Given the description of an element on the screen output the (x, y) to click on. 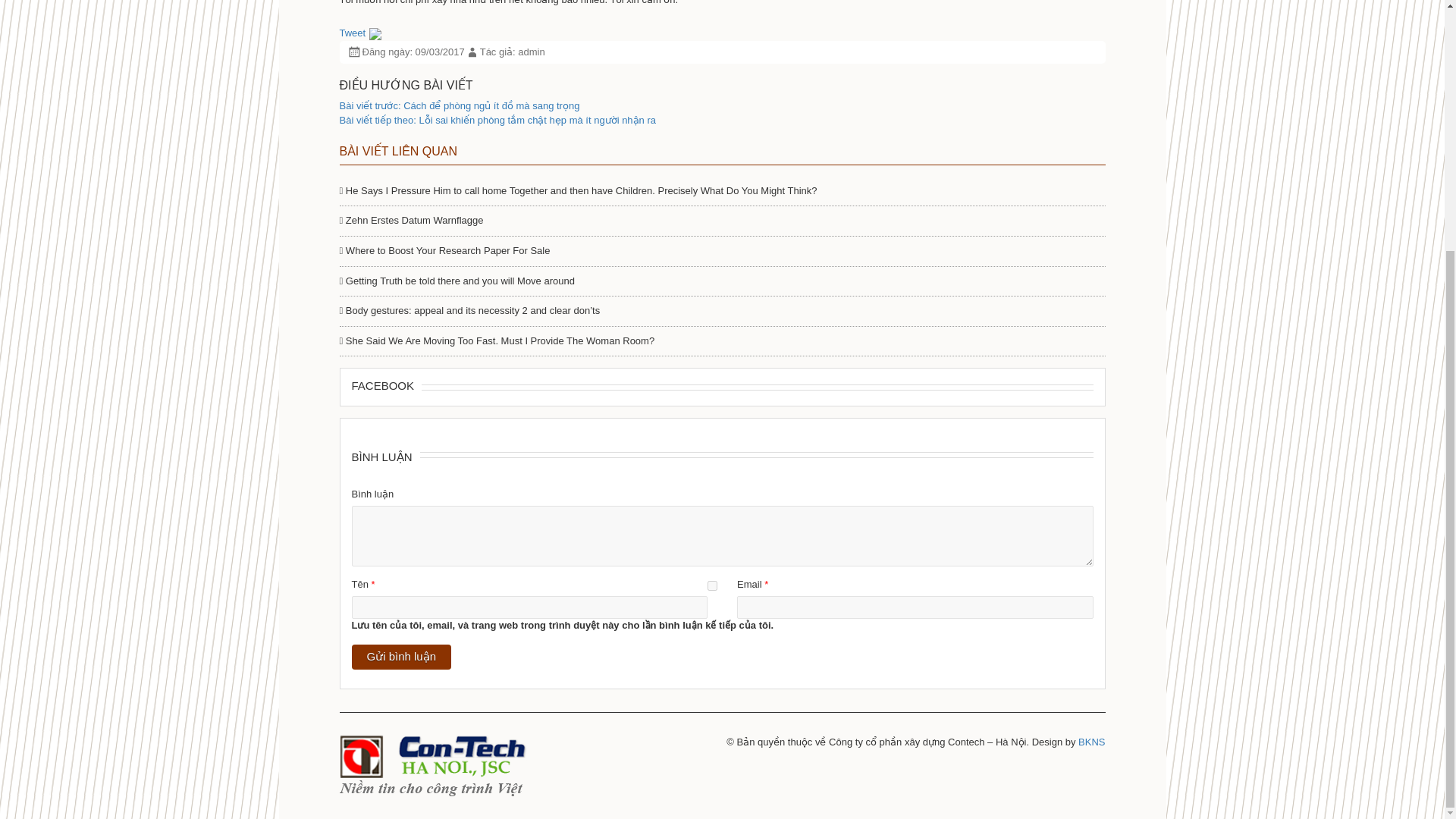
Tweet (352, 32)
Where to Boost Your Research Paper For Sale (444, 250)
Where to Boost Your Research Paper For Sale (444, 250)
Getting Truth be told there and you will Move around (457, 280)
Getting Truth be told there and you will Move around (457, 280)
admin (531, 51)
yes (712, 585)
Zehn Erstes Datum Warnflagge (411, 220)
Zehn Erstes Datum Warnflagge (411, 220)
